Given the description of an element on the screen output the (x, y) to click on. 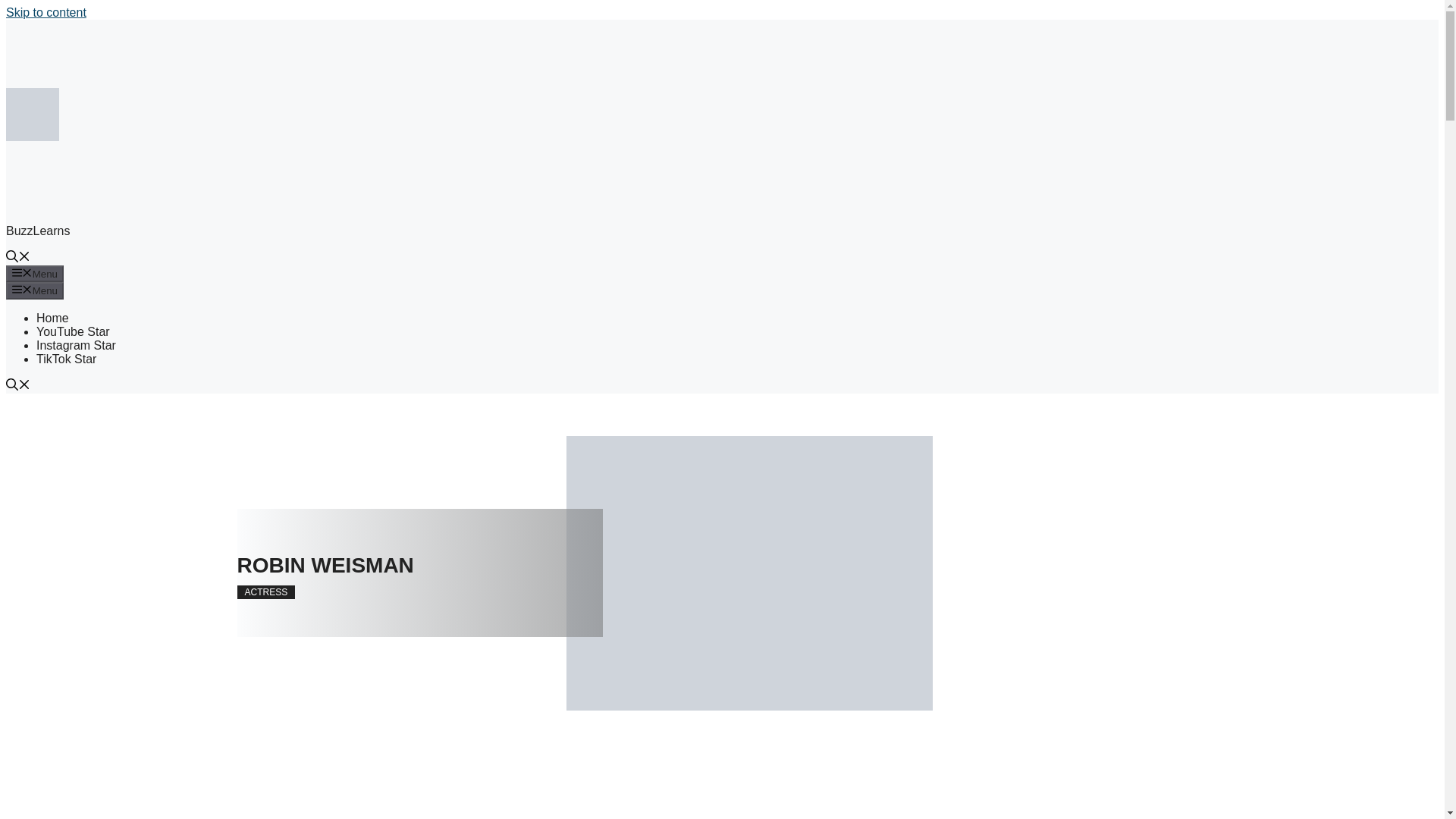
ACTRESS (265, 591)
Skip to content (45, 11)
BuzzLearns (37, 230)
TikTok Star (66, 358)
Menu (34, 273)
Menu (34, 289)
YouTube Star (73, 331)
Instagram Star (76, 345)
Skip to content (45, 11)
Home (52, 318)
